Given the description of an element on the screen output the (x, y) to click on. 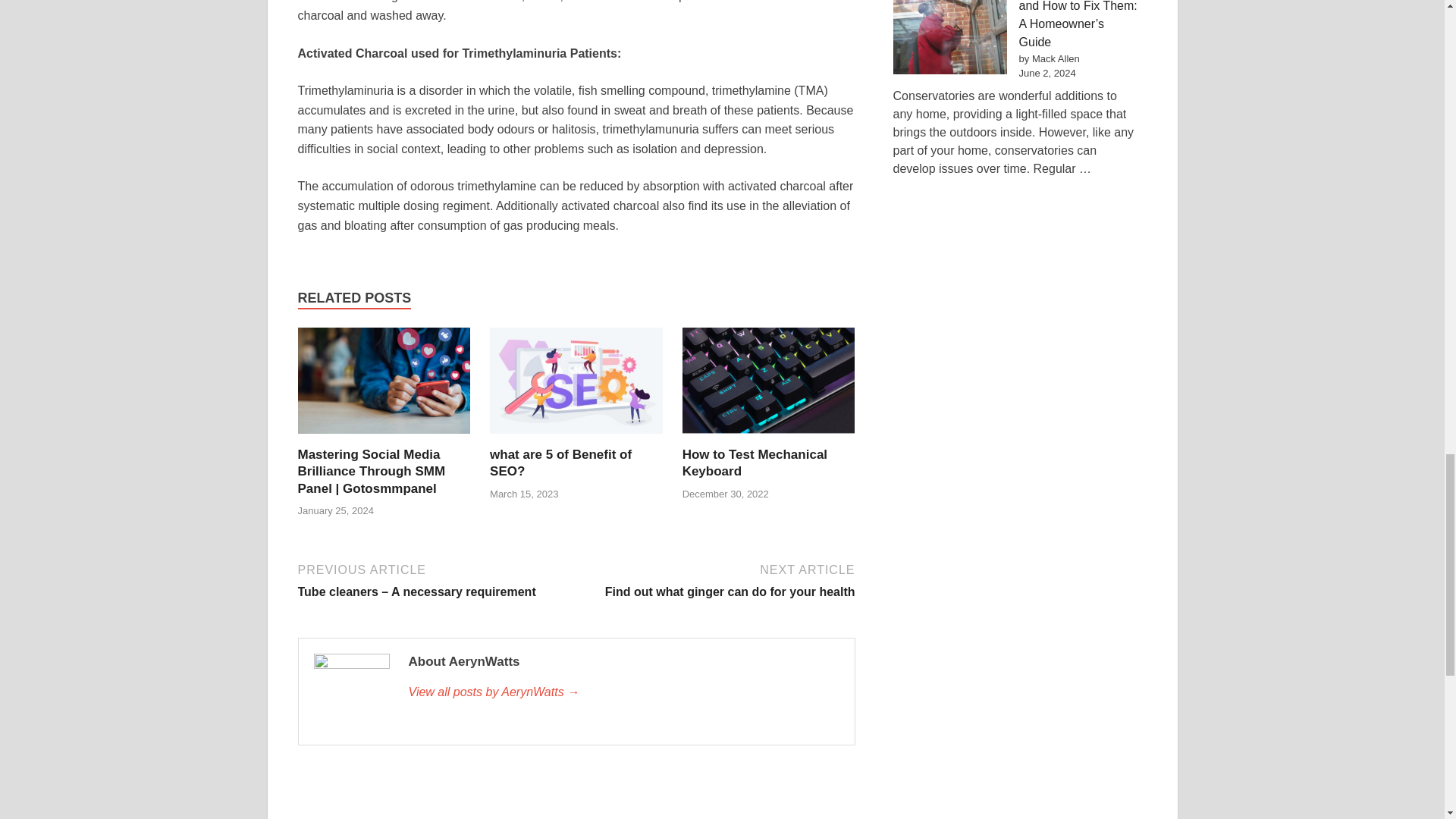
what are 5 of Benefit of SEO? (575, 386)
what are 5 of Benefit of SEO? (560, 462)
How to Test Mechanical Keyboard (754, 462)
AerynWatts (622, 692)
How to Test Mechanical Keyboard (769, 386)
